Given the description of an element on the screen output the (x, y) to click on. 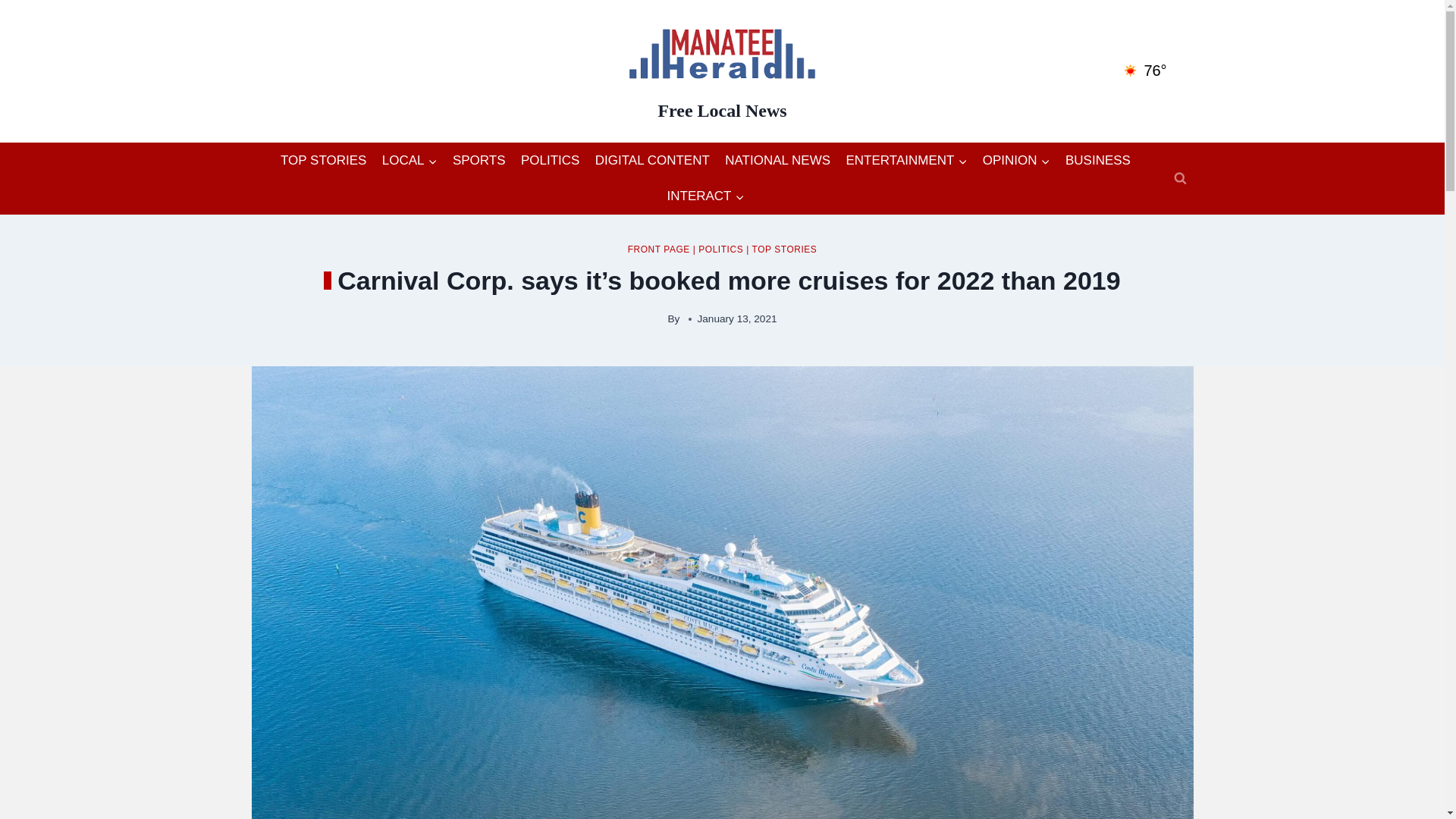
FRONT PAGE (658, 249)
TOP STORIES (784, 249)
BUSINESS (1098, 160)
DIGITAL CONTENT (652, 160)
SPORTS (479, 160)
OPINION (1016, 160)
NATIONAL NEWS (777, 160)
POLITICS (720, 249)
INTERACT (705, 196)
TOP STORIES (323, 160)
